Given the description of an element on the screen output the (x, y) to click on. 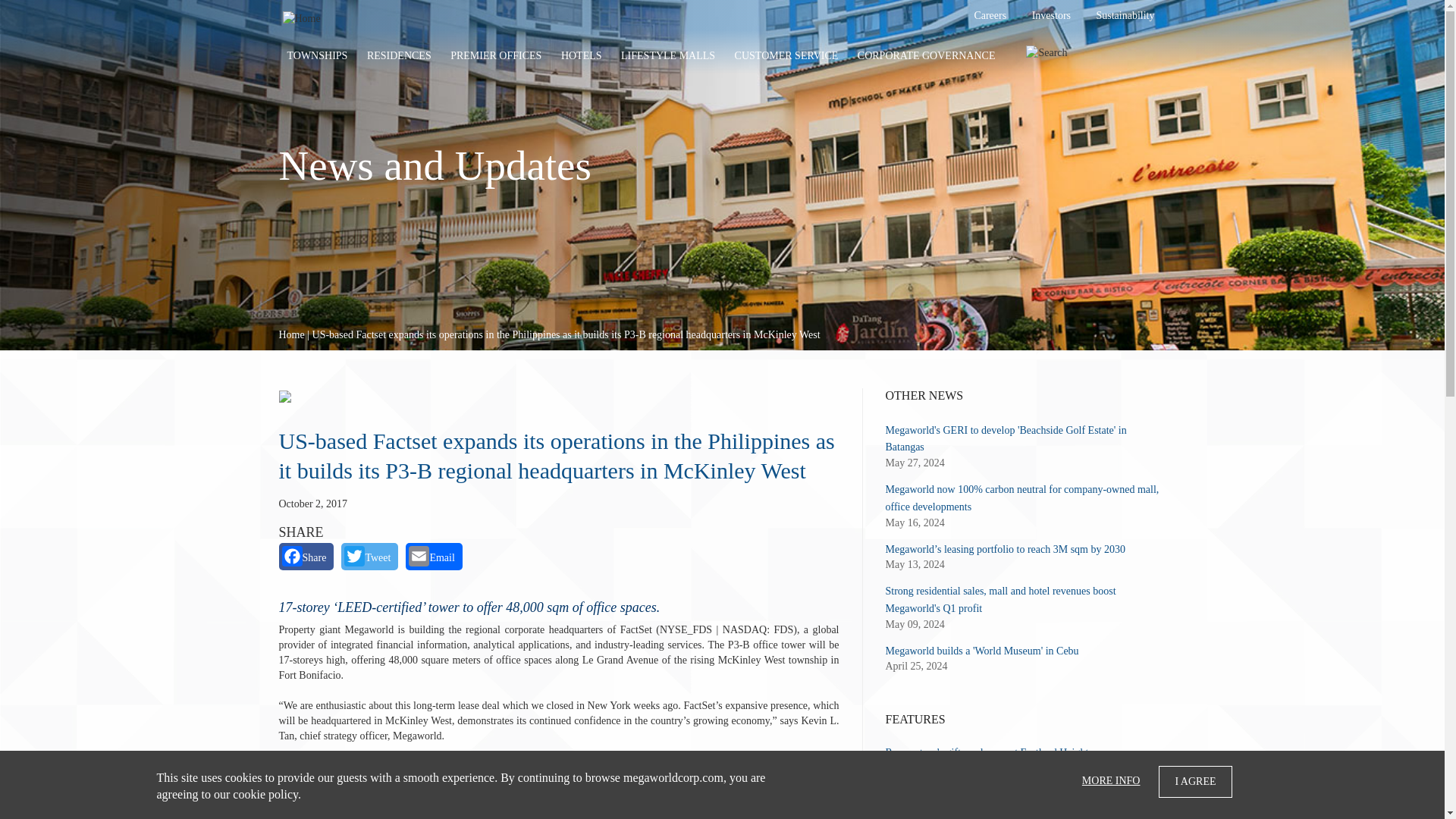
Home (301, 18)
TOWNSHIPS (317, 55)
Investors (1050, 16)
Sustainability (1125, 16)
Careers (989, 16)
